Given the description of an element on the screen output the (x, y) to click on. 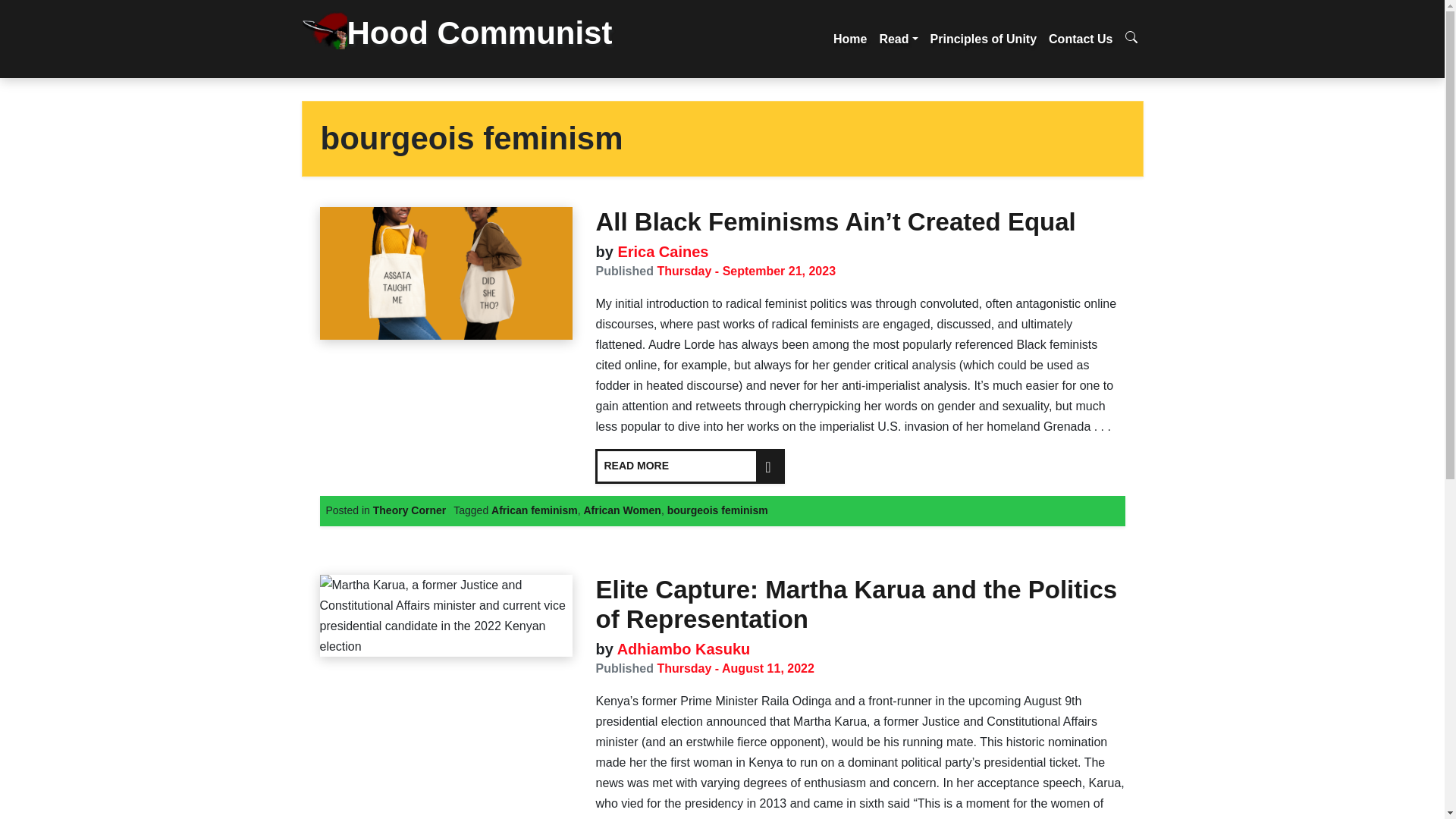
African Women (622, 510)
African feminism (535, 510)
Hood Communist (467, 38)
Adhiambo Kasuku (680, 648)
Contact Us (1080, 38)
bourgeois feminism (717, 510)
Adhiambo Kasuku (680, 648)
Home (849, 38)
Thursday - September 21, 2023 (745, 270)
publishing date (745, 270)
READ MORE (689, 466)
Erica Caines (660, 251)
Read (897, 38)
Theory Corner (408, 510)
